Given the description of an element on the screen output the (x, y) to click on. 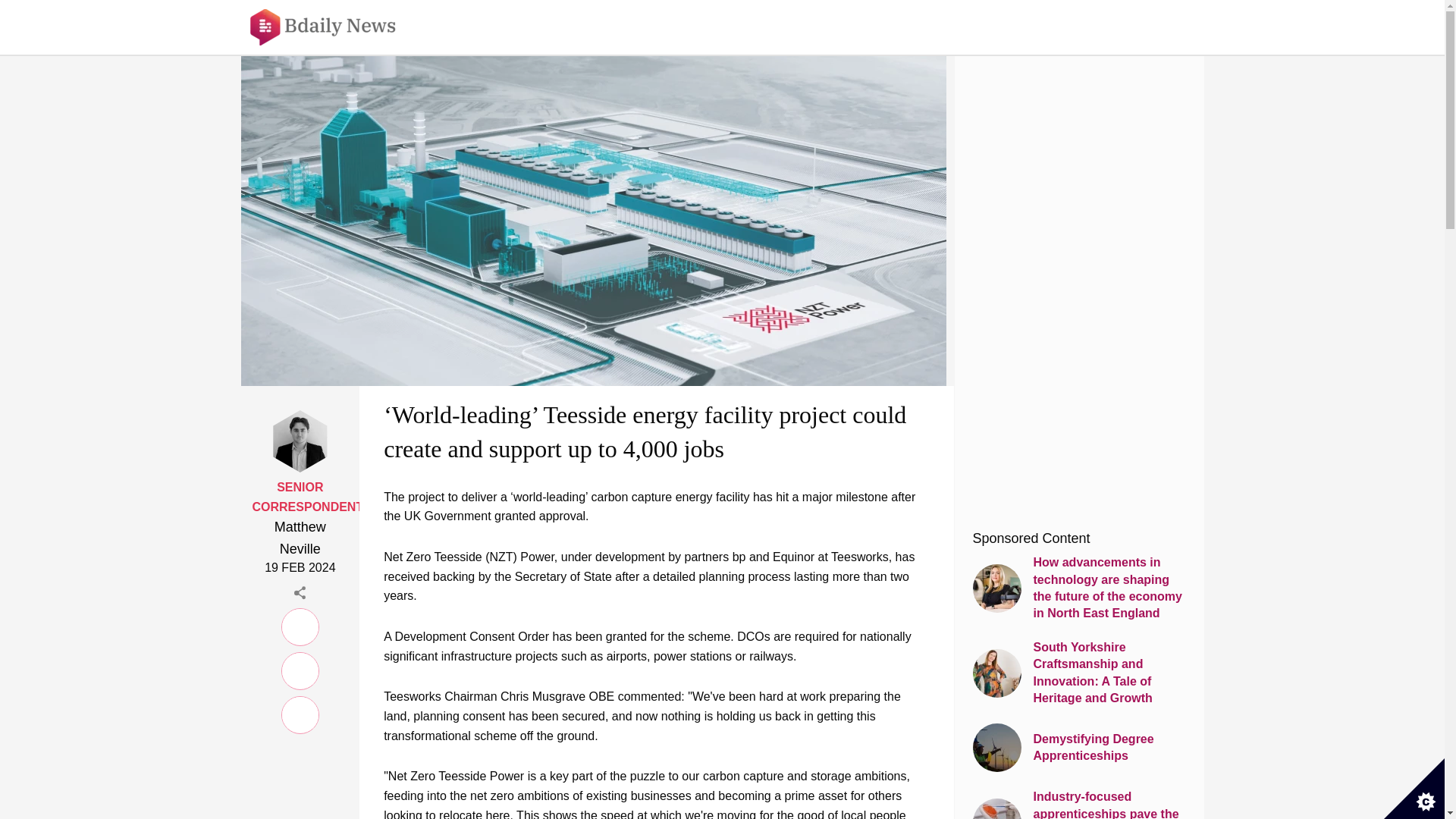
Facebook (300, 668)
Bdaily (333, 27)
Twitter (300, 712)
Demystifying Degree Apprenticeships (1078, 747)
Matthew Neville (299, 538)
LinkedIn (300, 624)
